Given the description of an element on the screen output the (x, y) to click on. 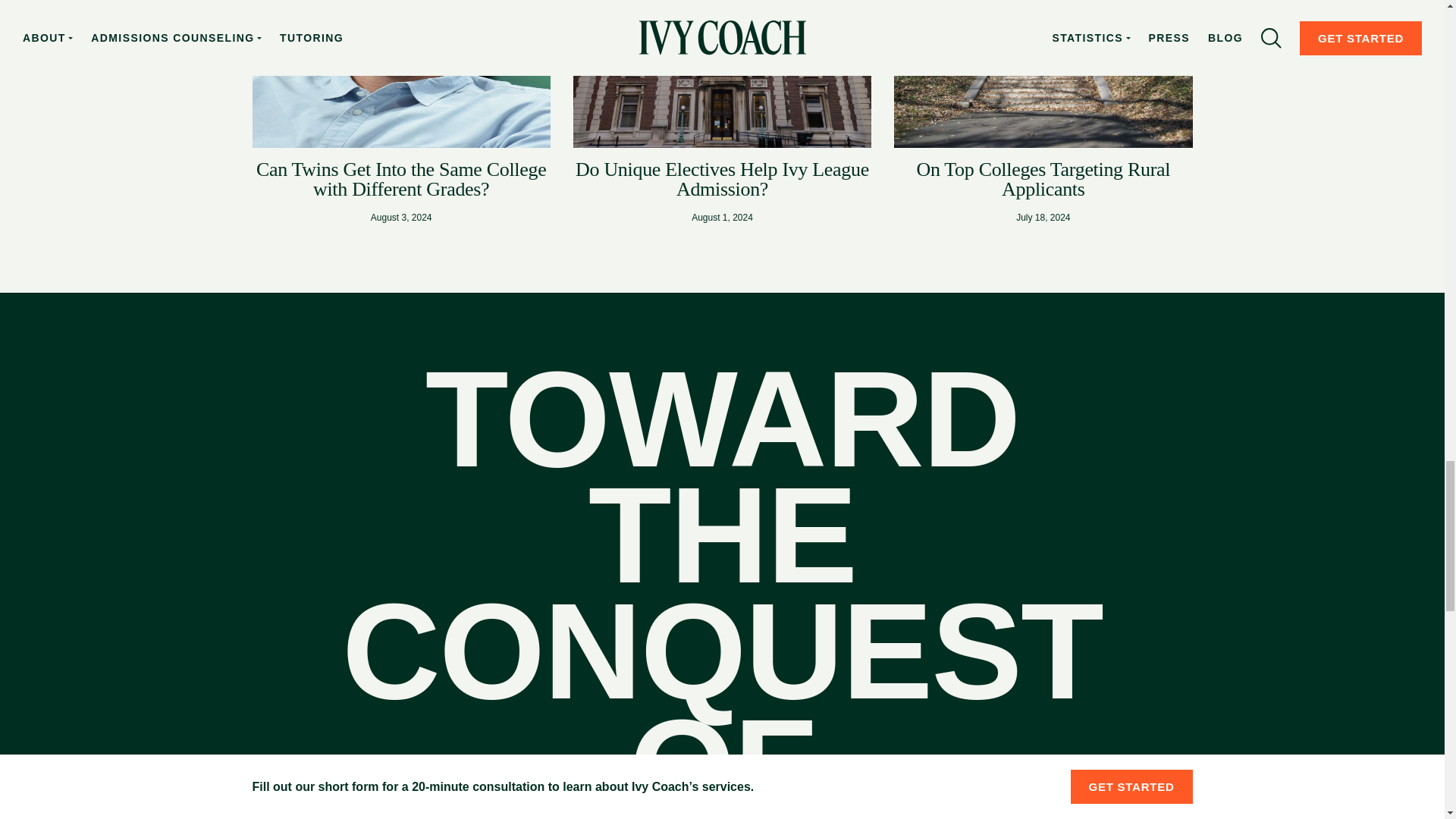
Can Twins Get Into the Same College with Different Grades? (401, 178)
On Top Colleges Targeting Rural Applicants (1042, 178)
Do Unique Electives Help Ivy League Admission? (722, 178)
